Given the description of an element on the screen output the (x, y) to click on. 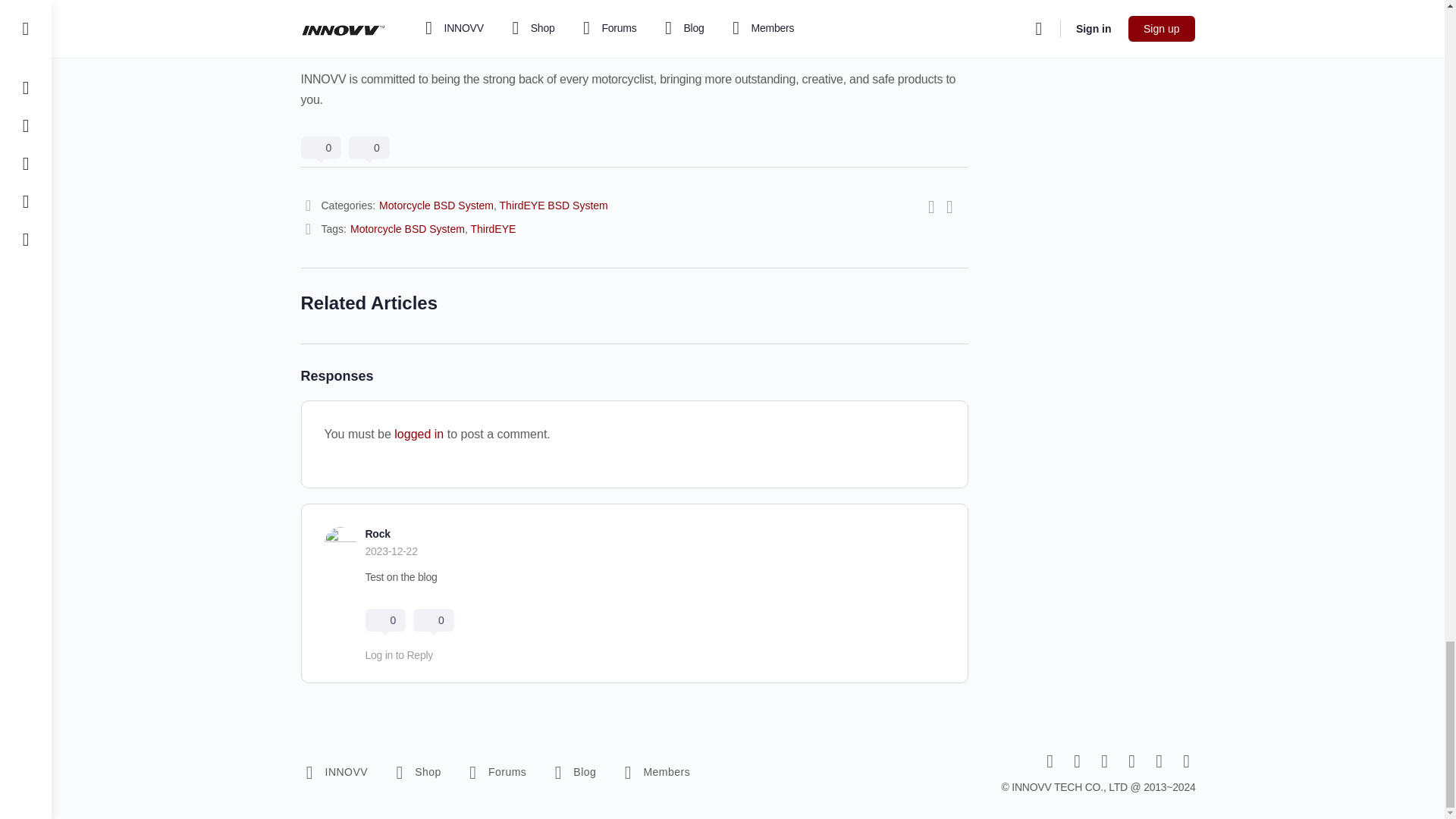
ThirdEYE BSD System (553, 205)
Motorcycle BSD System (407, 228)
Motorcycle BSD System (435, 205)
